Given the description of an element on the screen output the (x, y) to click on. 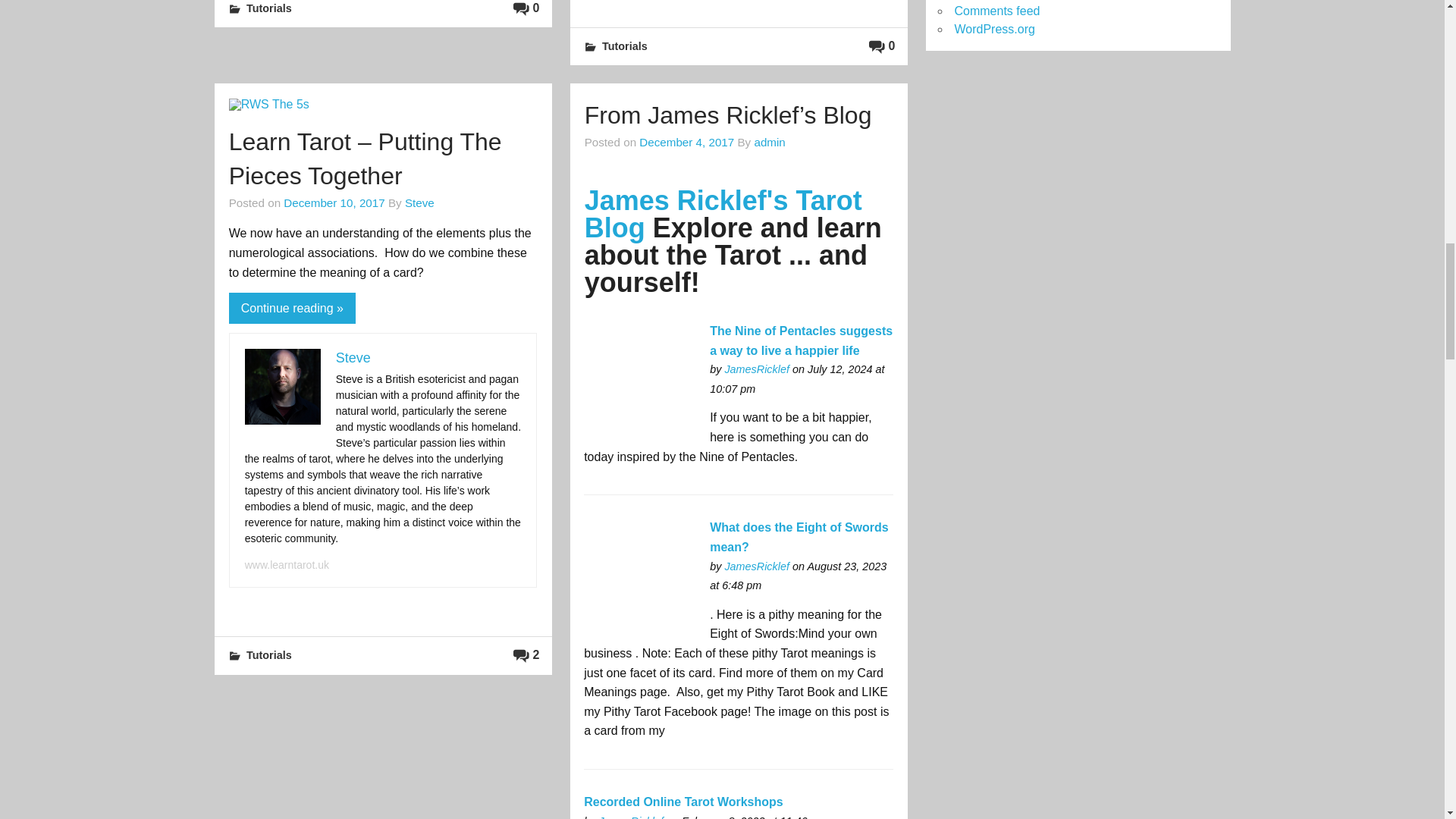
jamesricklef.wordpress.com (756, 369)
What does the Eight of Swords mean? (640, 578)
Tutorials (269, 8)
The Nine of Pentacles suggests a way to live a happier life (640, 381)
12:33 pm (686, 141)
2:30 pm (333, 202)
View all posts by admin (769, 141)
View all posts by Steve (418, 202)
0 (525, 7)
